Given the description of an element on the screen output the (x, y) to click on. 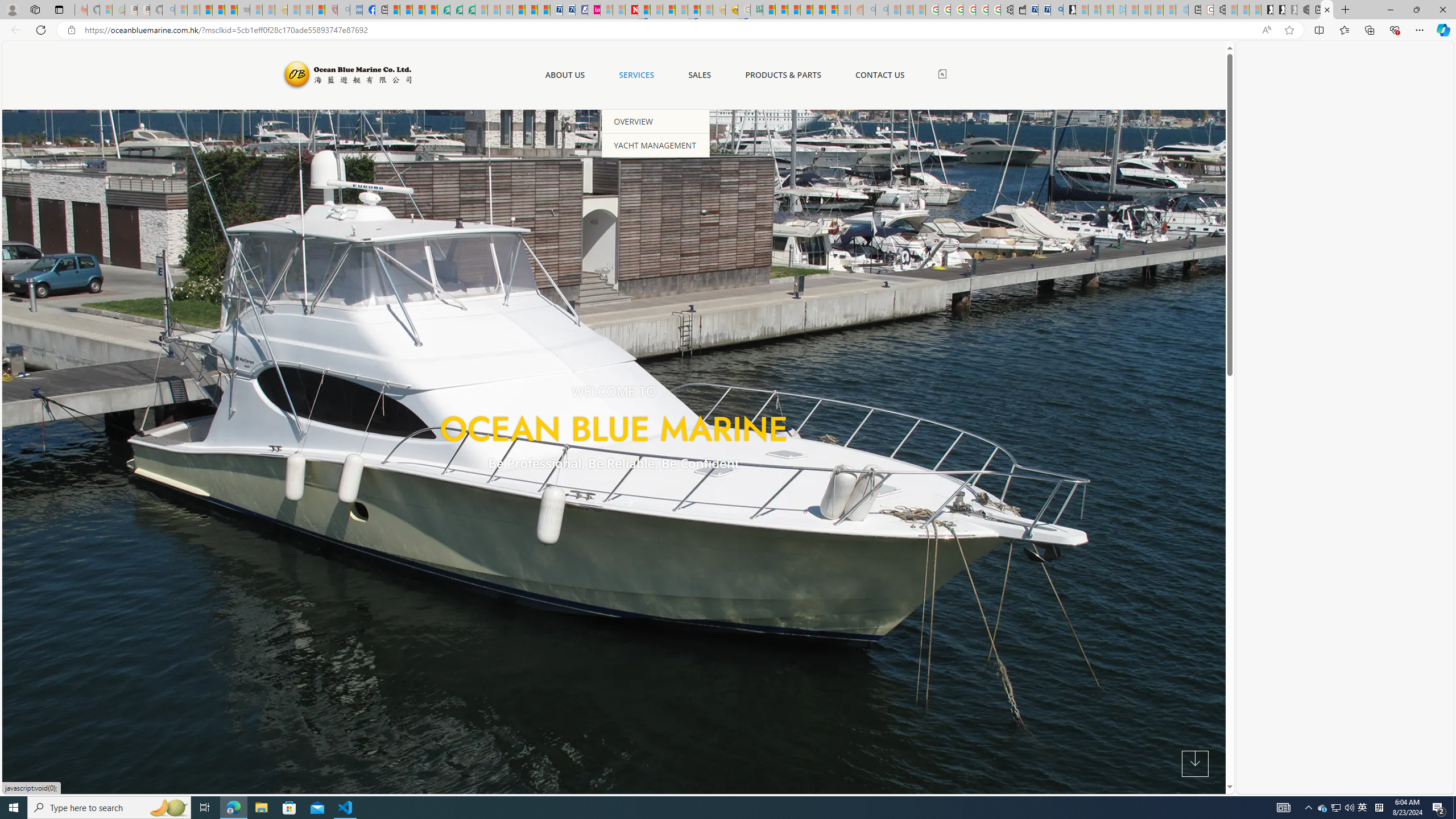
Ocean Blue Marine (345, 74)
Terms of Use Agreement (456, 9)
Next Section (1195, 764)
Latest Politics News & Archive | Newsweek.com (631, 9)
New Report Confirms 2023 Was Record Hot | Watch (230, 9)
SALES (699, 74)
